Given the description of an element on the screen output the (x, y) to click on. 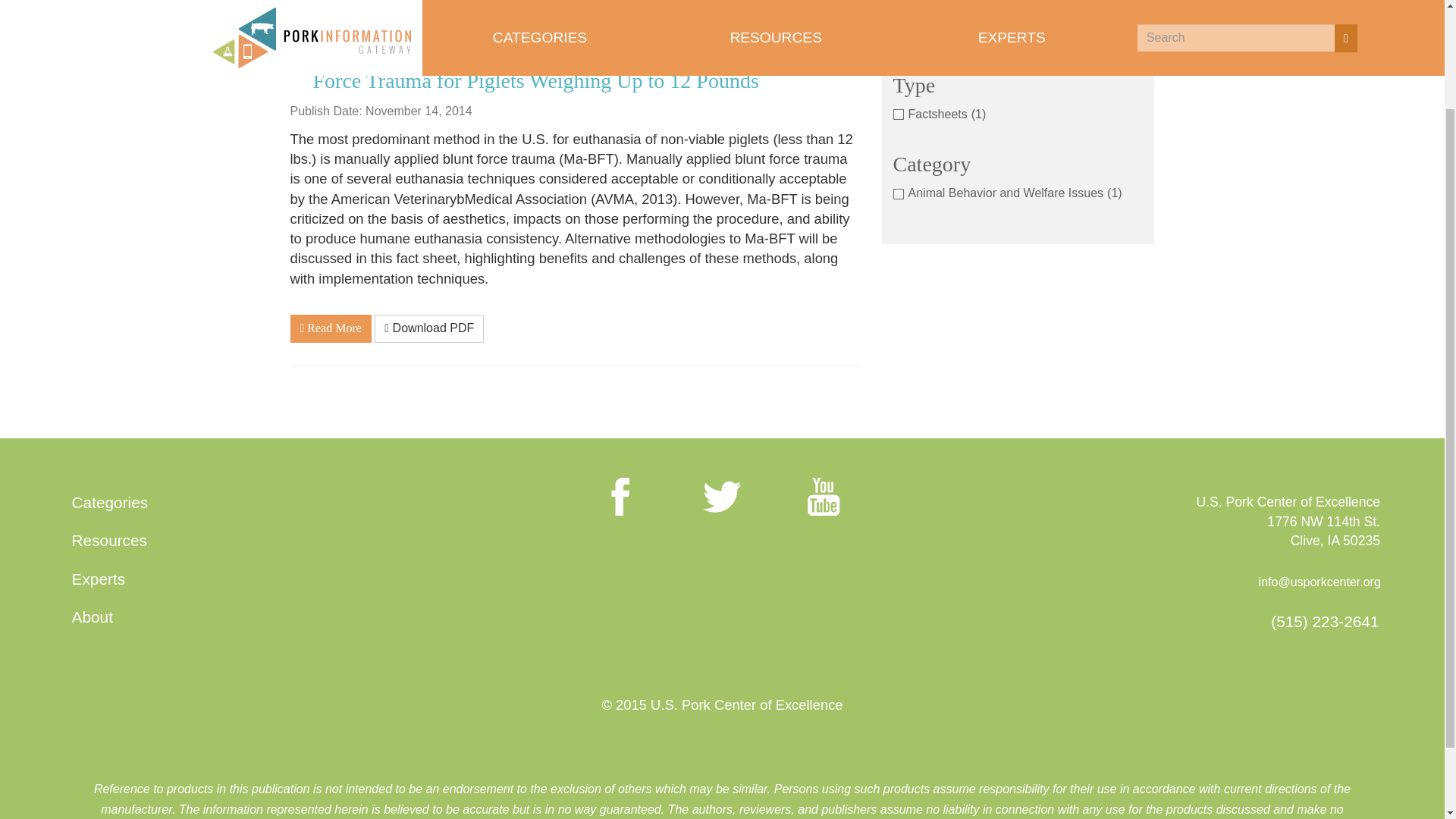
Experts (98, 578)
About (92, 616)
Read More (330, 328)
Download PDF (428, 328)
Resources (109, 540)
Categories (109, 501)
